Given the description of an element on the screen output the (x, y) to click on. 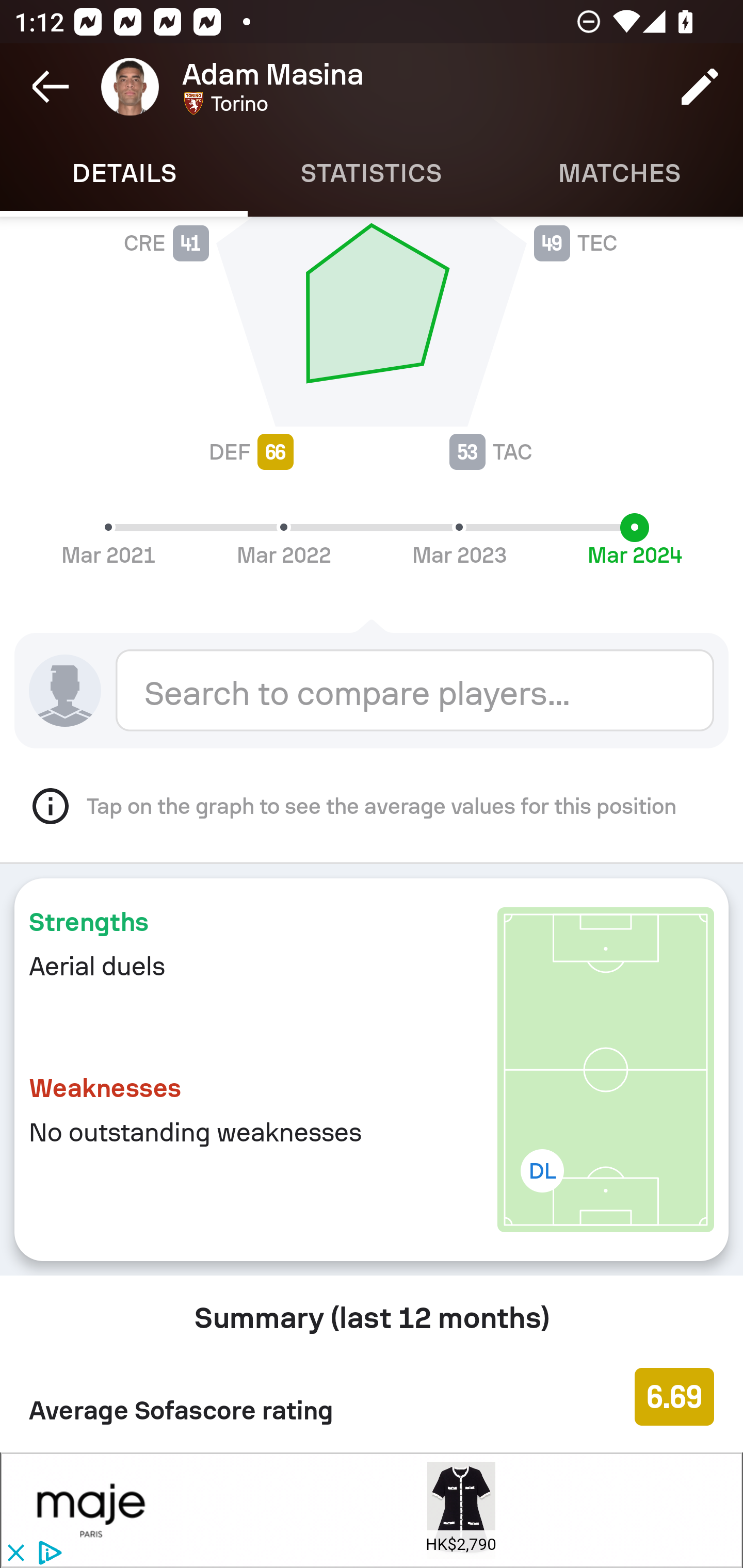
Navigate up (50, 86)
Edit (699, 86)
Statistics STATISTICS (371, 173)
Matches MATCHES (619, 173)
Search to compare players… (414, 689)
   (91, 1509)
 HK$2,790       HK$2,790 (461, 1510)
close_button (14, 1553)
privacy_small (47, 1553)
